Given the description of an element on the screen output the (x, y) to click on. 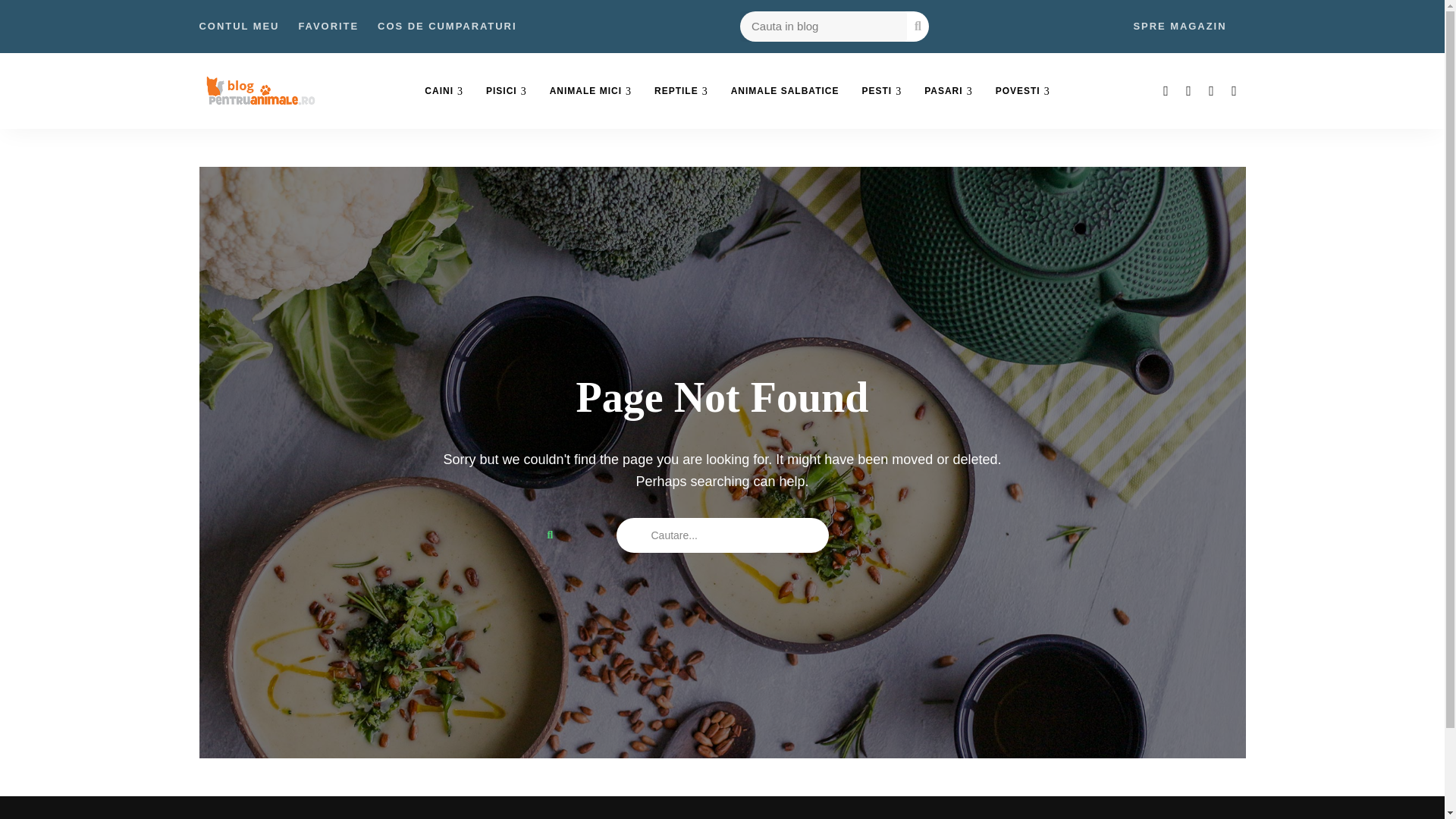
SPRE MAGAZIN (1178, 26)
COS DE CUMPARATURI (446, 26)
POVESTI (1022, 90)
ANIMALE MICI (590, 90)
ANIMALE SALBATICE (784, 90)
CONTUL MEU (238, 26)
PASARI (948, 90)
FAVORITE (328, 26)
REPTILE (681, 90)
